Given the description of an element on the screen output the (x, y) to click on. 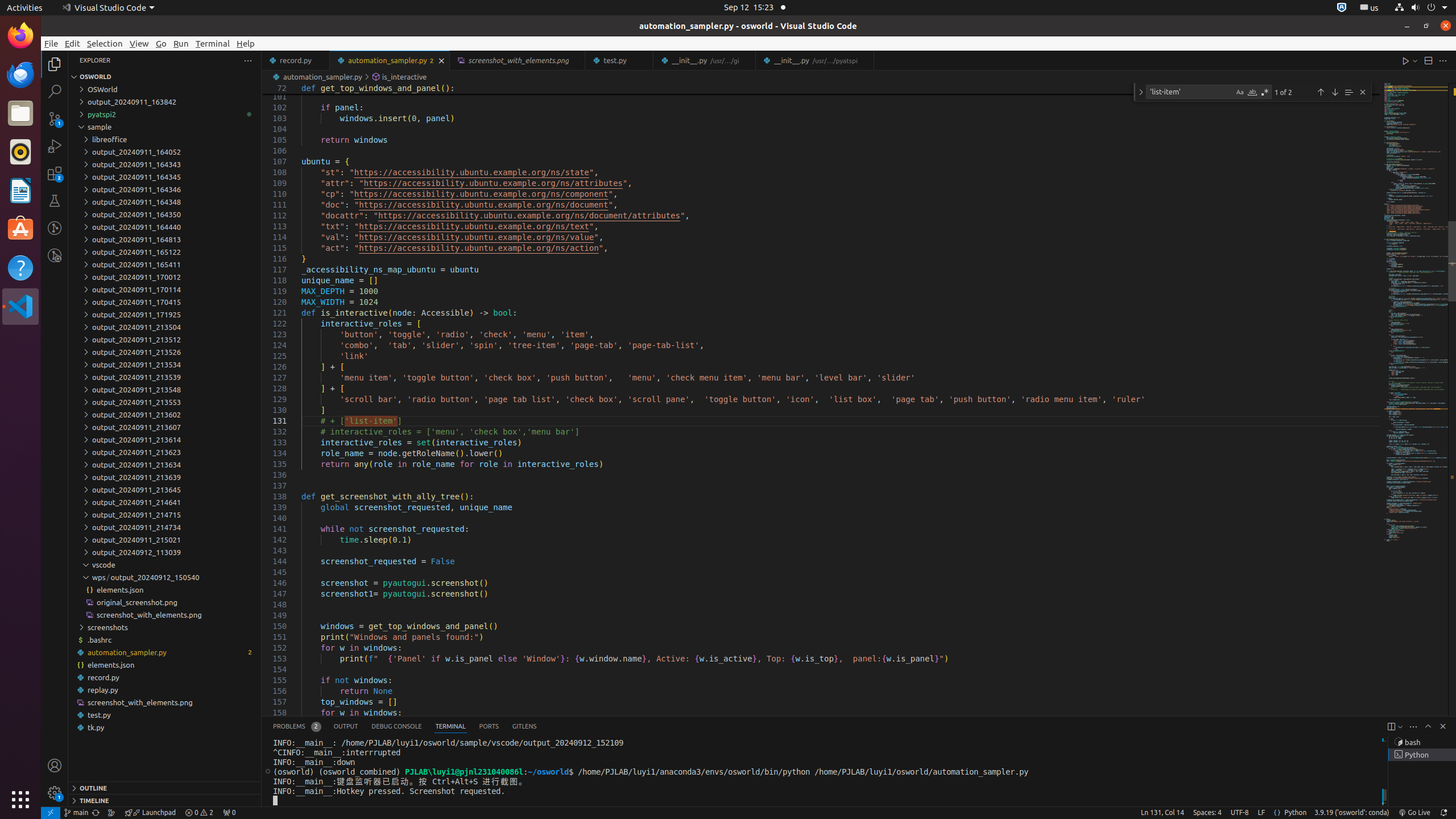
OSWorld (Git) - main, Checkout Branch/Tag... Element type: push-button (75, 812)
3.9.19 ('osworld': conda), ~/anaconda3/envs/osworld/bin/python Element type: push-button (1351, 812)
Output (Ctrl+K Ctrl+H) Element type: page-tab (345, 726)
output_20240911_214715 Element type: tree-item (164, 514)
Close (Ctrl+W) Element type: push-button (865, 60)
